Given the description of an element on the screen output the (x, y) to click on. 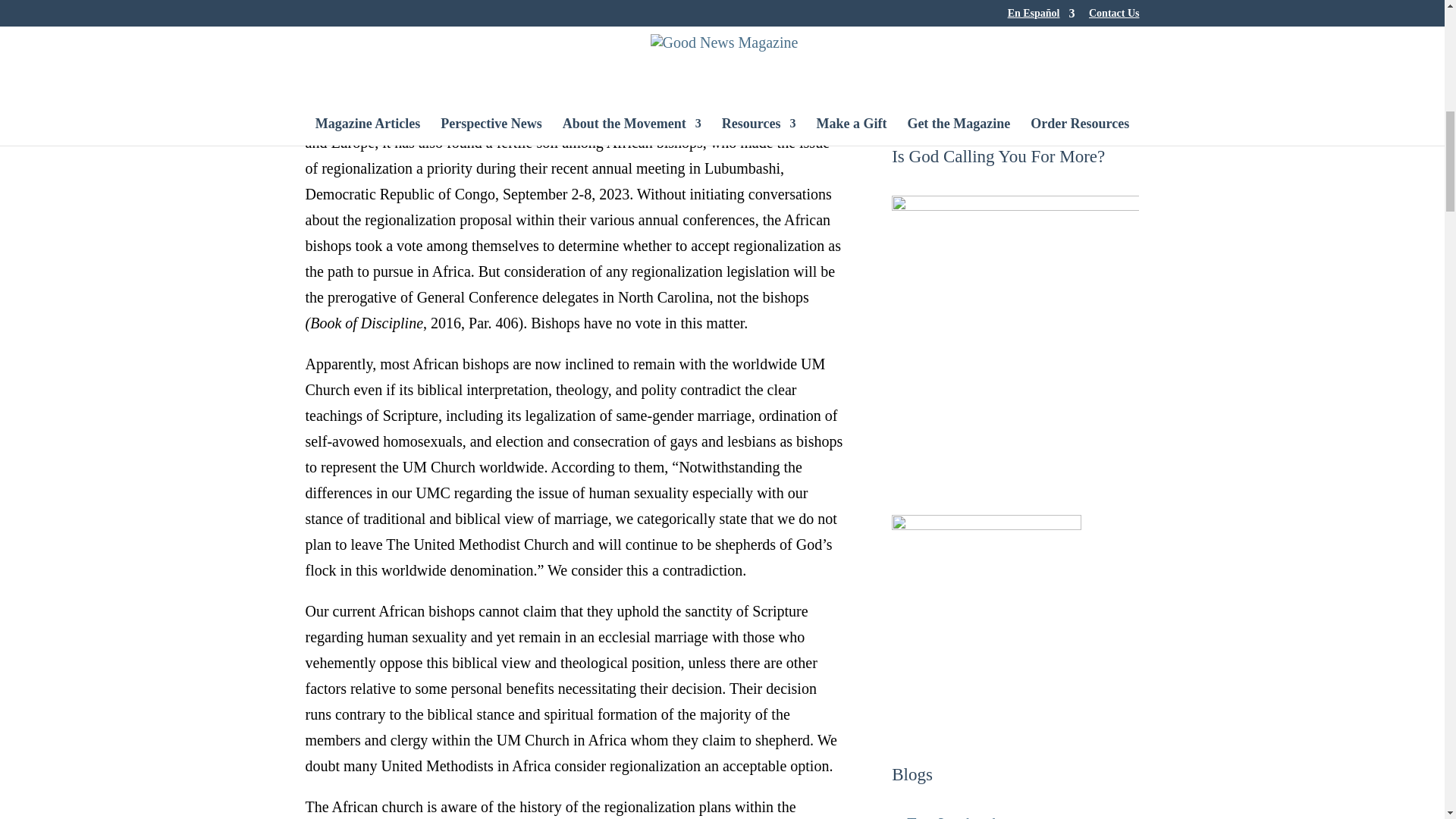
gdn-home-slider-gmclogo (1004, 62)
